Given the description of an element on the screen output the (x, y) to click on. 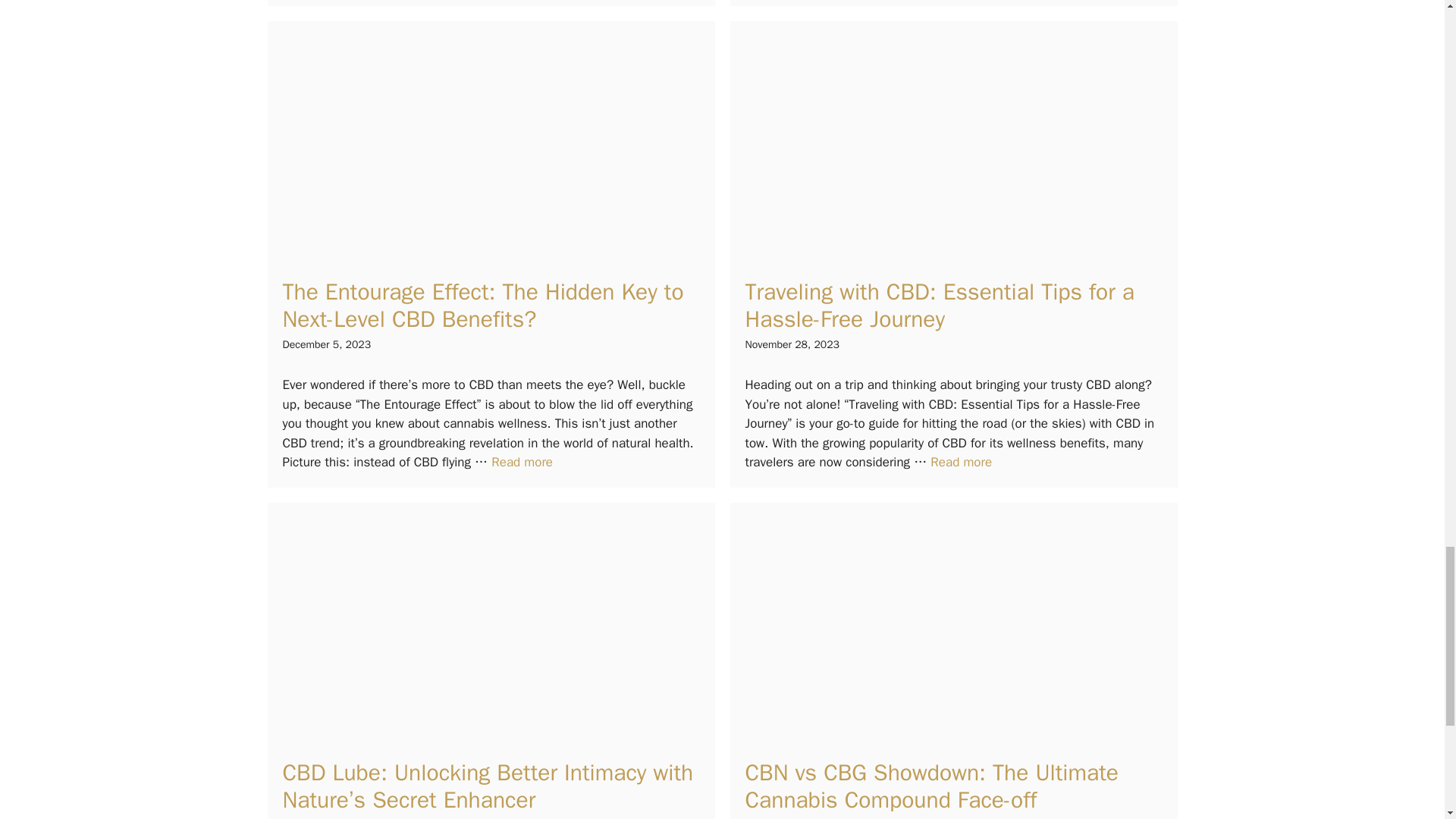
Traveling with CBD: Essential Tips for a Hassle-Free Journey (939, 305)
Read more (960, 462)
Traveling with CBD: Essential Tips for a Hassle-Free Journey (960, 462)
CBN vs CBG Showdown: The Ultimate Cannabis Compound Face-off (931, 786)
Read more (522, 462)
